Given the description of an element on the screen output the (x, y) to click on. 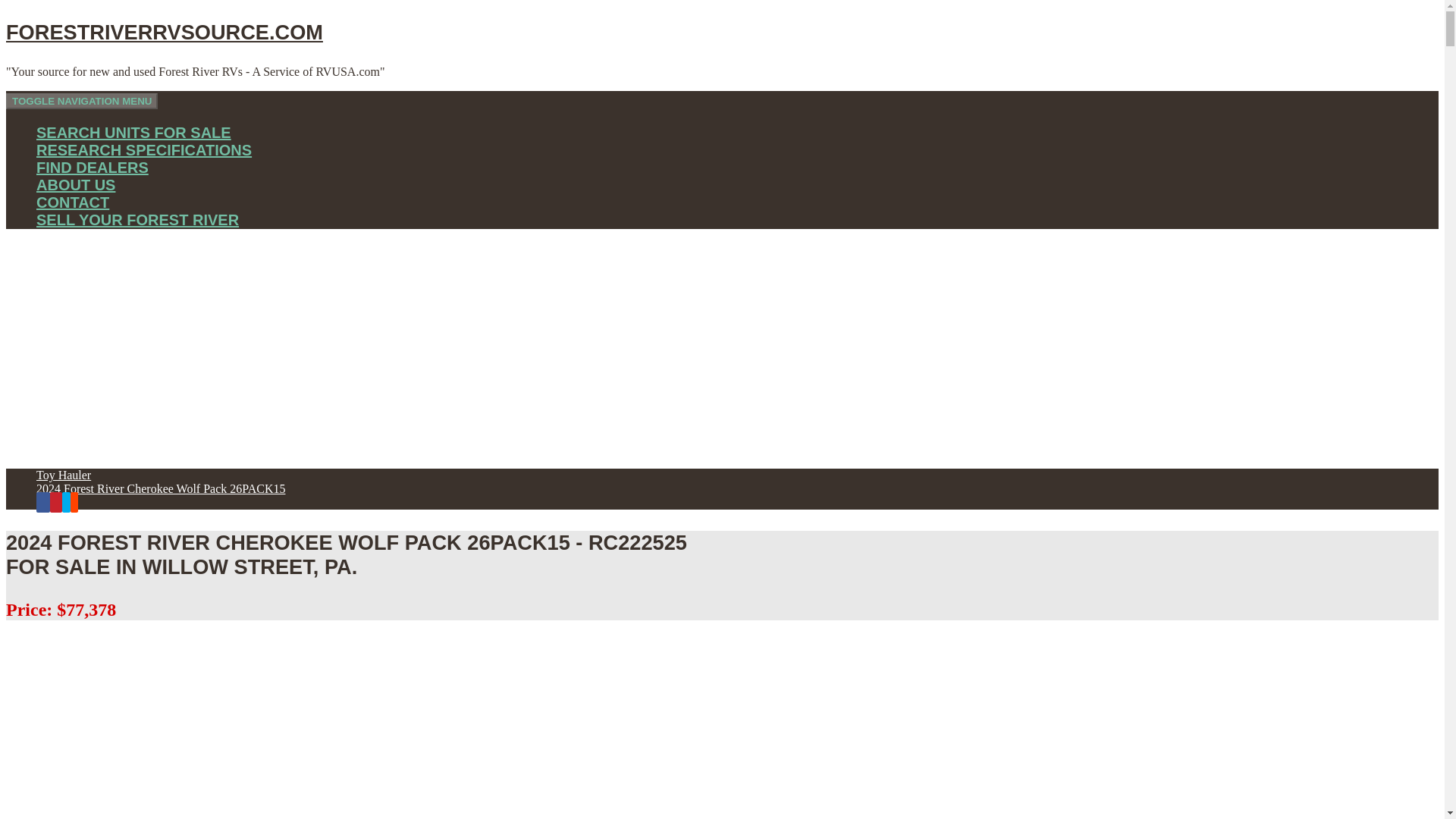
Forest River RVs for sale (133, 132)
SEARCH UNITS FOR SALE (133, 132)
CONTACT (72, 202)
Forest River Dealers (92, 167)
FIND DEALERS (92, 167)
SELL YOUR FOREST RIVER (137, 219)
Help me sell my Forest River RV! (137, 219)
ABOUT US (75, 184)
TOGGLE NAVIGATION MENU (81, 100)
RESEARCH SPECIFICATIONS (143, 149)
2024 Forest River Cherokee Wolf Pack 26PACK15 (160, 488)
Toy Hauler (63, 474)
